Given the description of an element on the screen output the (x, y) to click on. 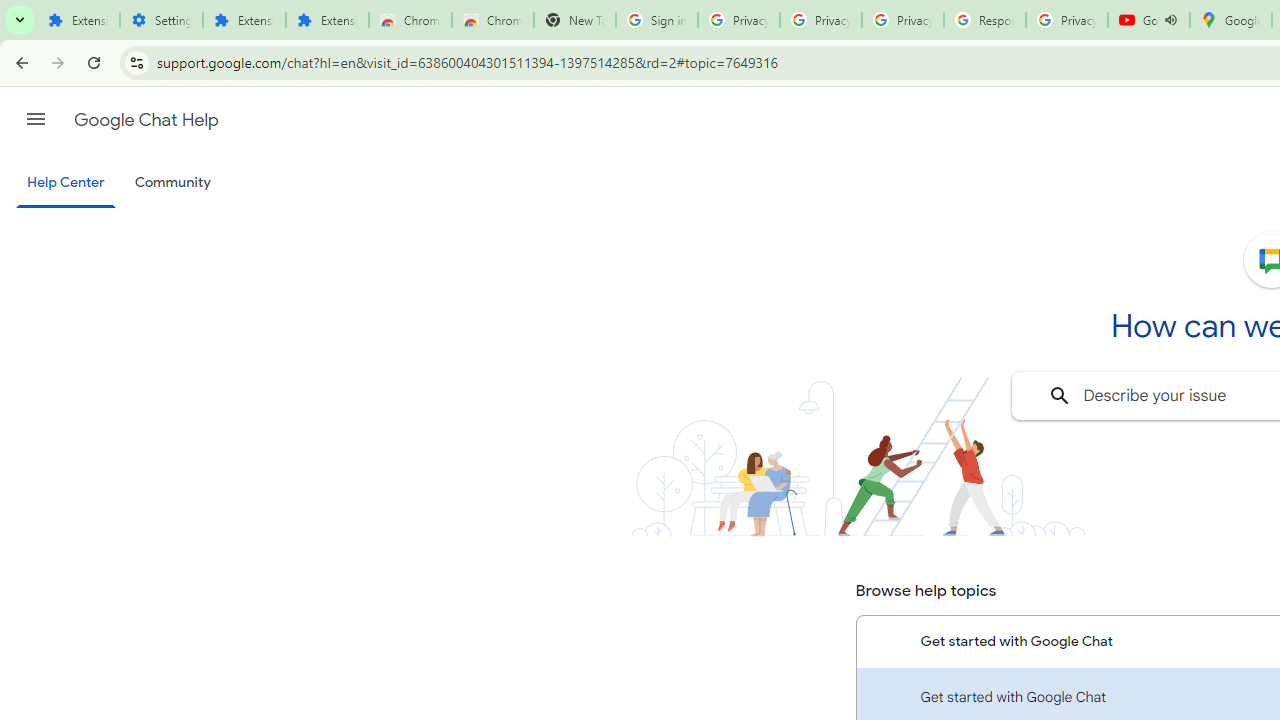
New Tab (574, 20)
Extensions (244, 20)
Google Chat Help (146, 119)
